Given the description of an element on the screen output the (x, y) to click on. 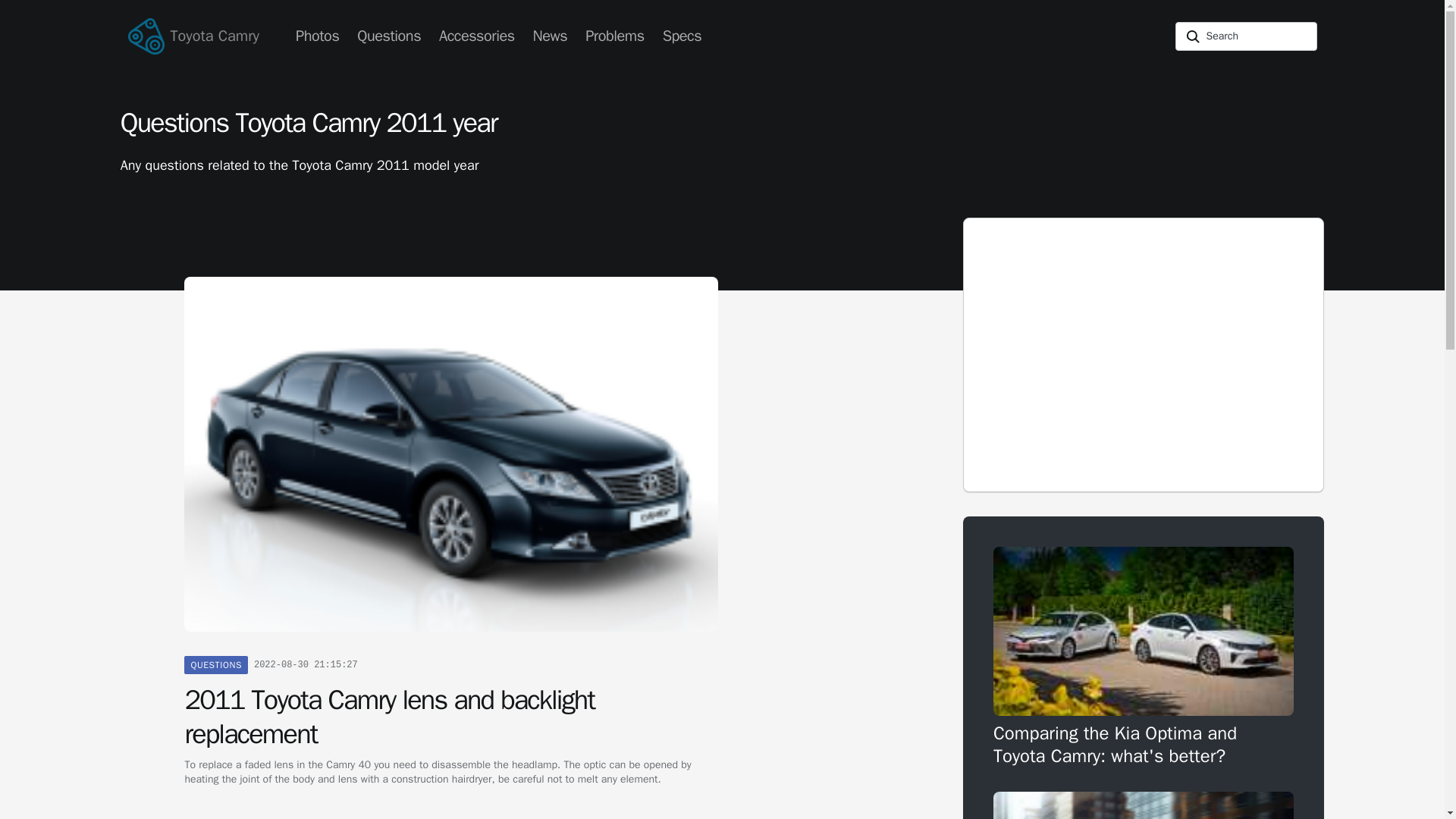
Toyota Camry (199, 36)
Questions (388, 36)
Comparing the Kia Optima and Toyota Camry: what's better? (1143, 656)
Photos (316, 36)
Comparing the Kia Optima and Toyota Camry: what's better? (1143, 656)
Advertisement (1143, 354)
News (550, 36)
Accessories (476, 36)
Specs (681, 36)
Problems (614, 36)
